Given the description of an element on the screen output the (x, y) to click on. 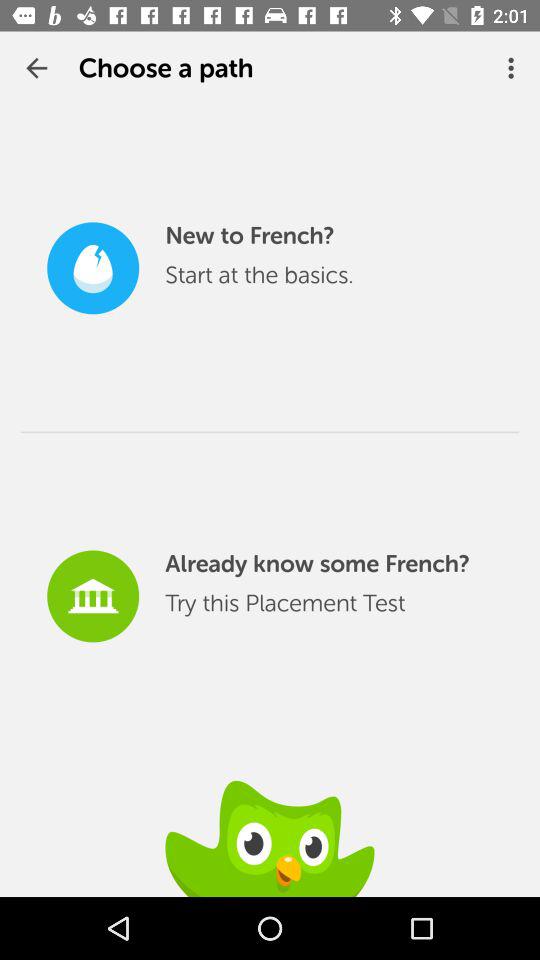
open the app to the right of the choose a path item (513, 67)
